Given the description of an element on the screen output the (x, y) to click on. 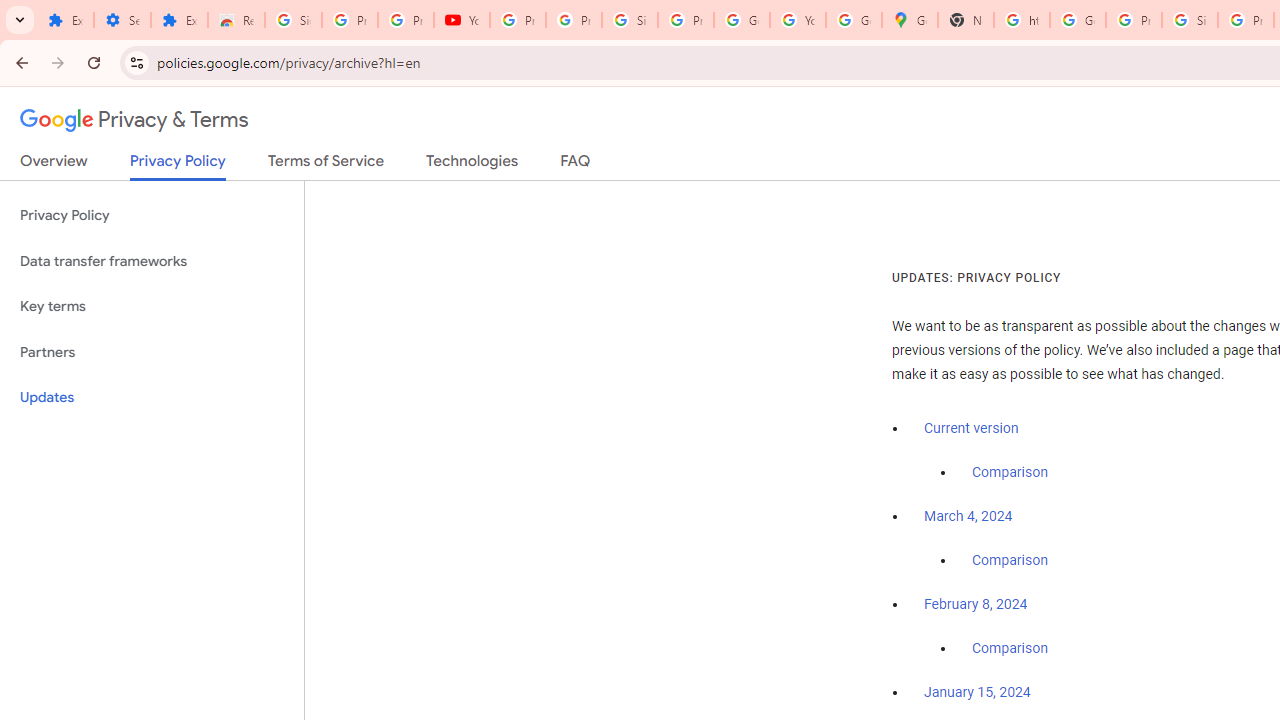
Comparison (1009, 649)
Extensions (65, 20)
Partners (152, 352)
YouTube (461, 20)
Google Account (742, 20)
Data transfer frameworks (152, 261)
February 8, 2024 (975, 605)
